Given the description of an element on the screen output the (x, y) to click on. 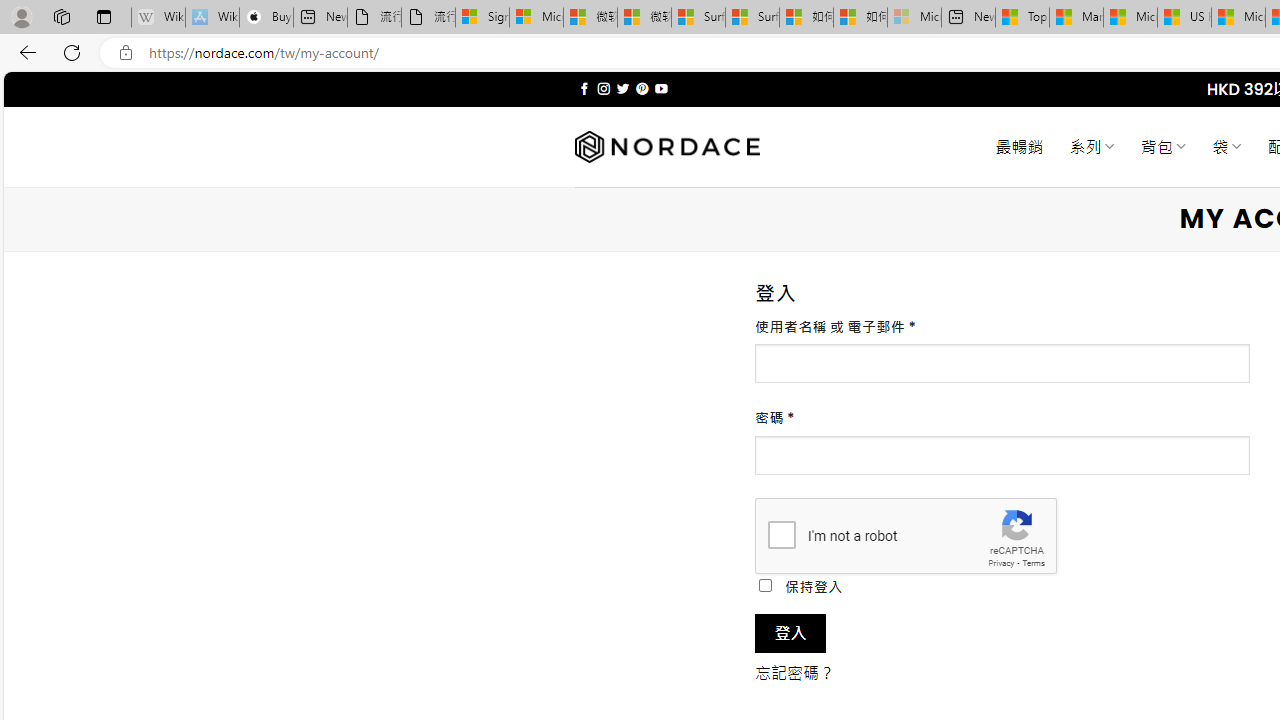
Top Stories - MSN (1022, 17)
Buy iPad - Apple (266, 17)
Microsoft account | Account Checkup - Sleeping (914, 17)
Follow on Instagram (603, 88)
Follow on YouTube (661, 88)
